Given the description of an element on the screen output the (x, y) to click on. 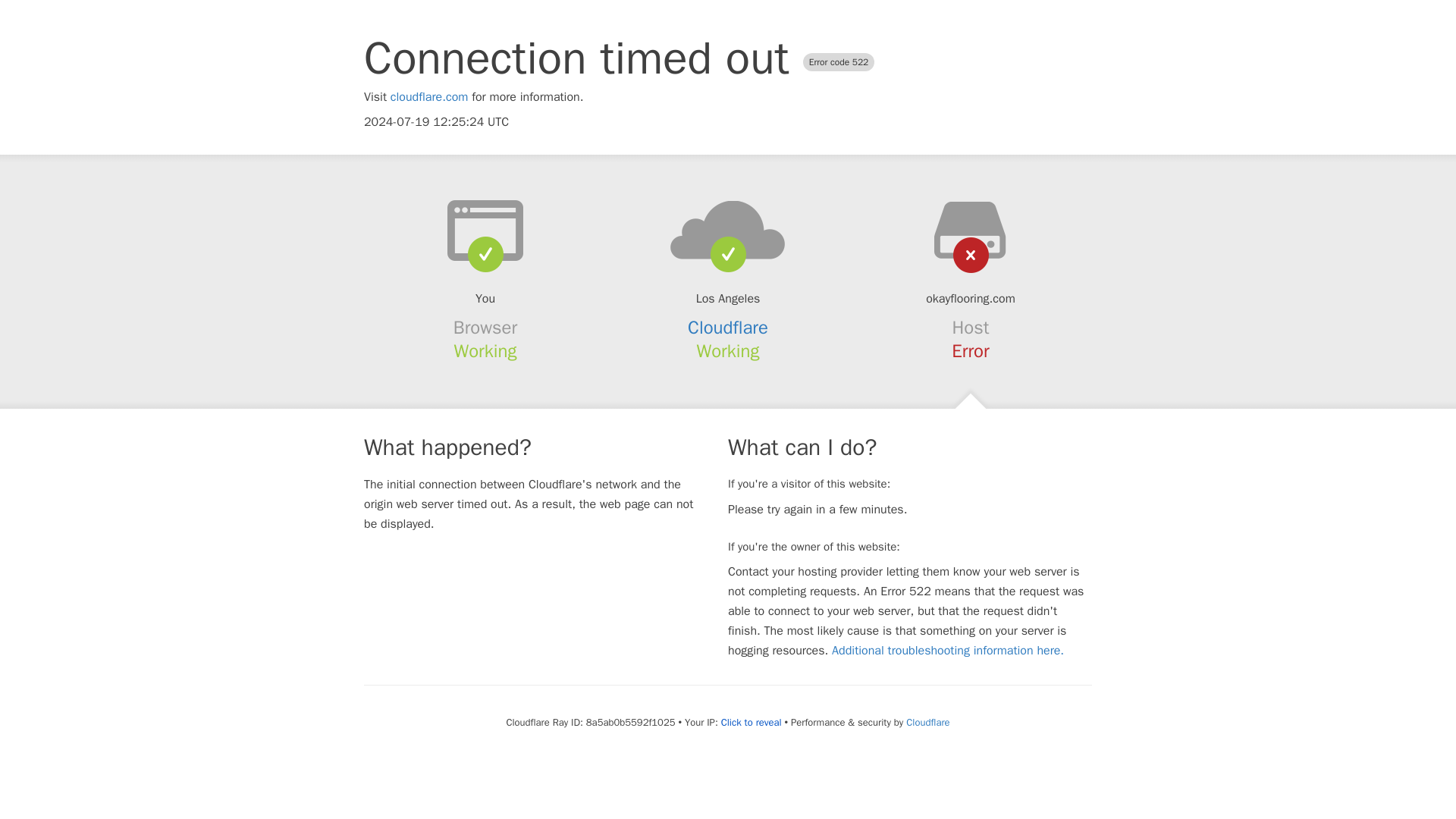
Cloudflare (927, 721)
Click to reveal (750, 722)
cloudflare.com (429, 96)
Cloudflare (727, 327)
Additional troubleshooting information here. (947, 650)
